Given the description of an element on the screen output the (x, y) to click on. 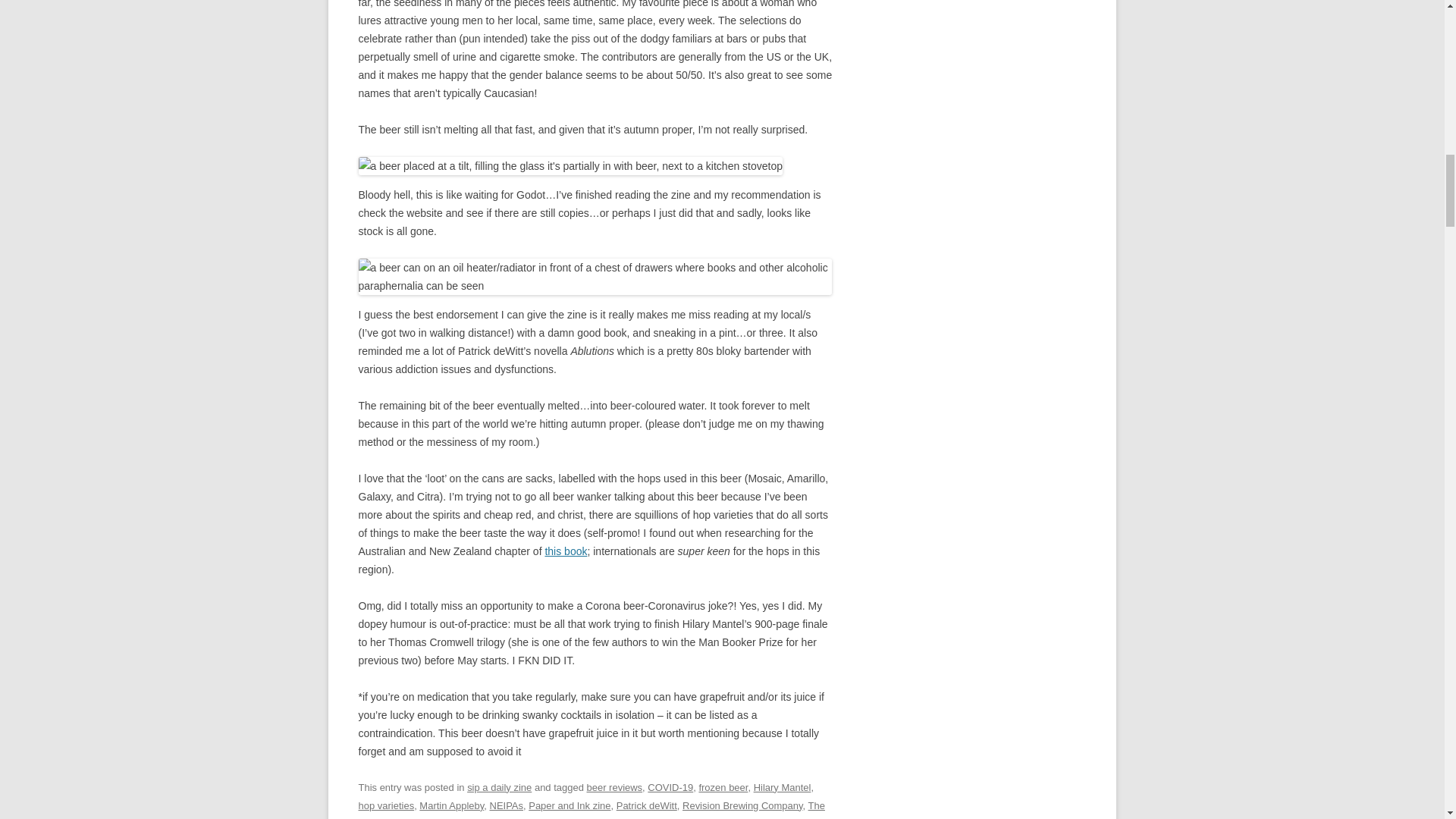
The Simpsons (591, 809)
COVID-19 (670, 787)
17:05 (512, 818)
Hilary Mantel (782, 787)
beer reviews (614, 787)
frozen beer (723, 787)
hop varieties (385, 805)
Paper and Ink zine (569, 805)
